Given the description of an element on the screen output the (x, y) to click on. 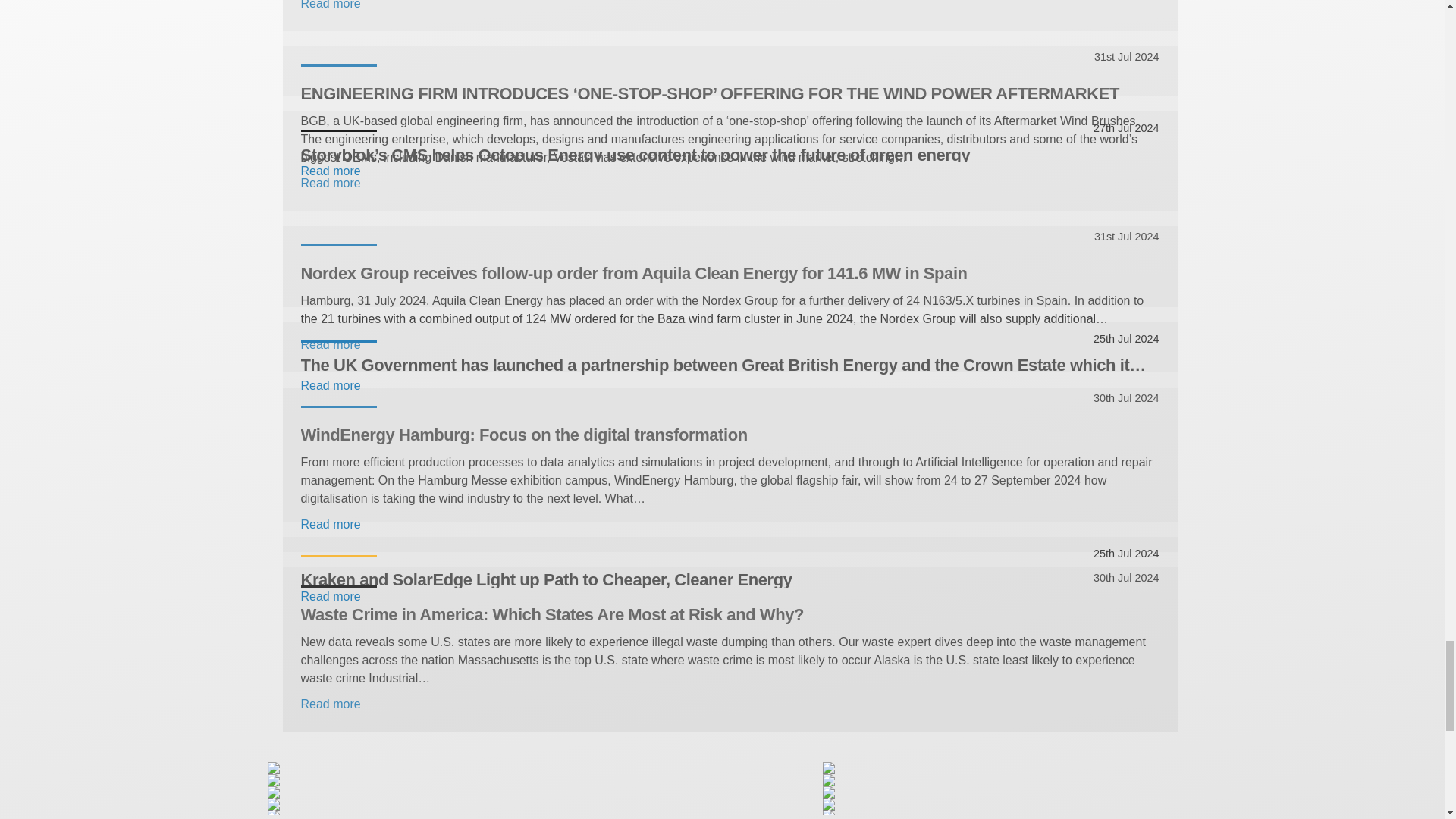
WindEnergy Hamburg: Focus on the digital transformation (728, 434)
